Given the description of an element on the screen output the (x, y) to click on. 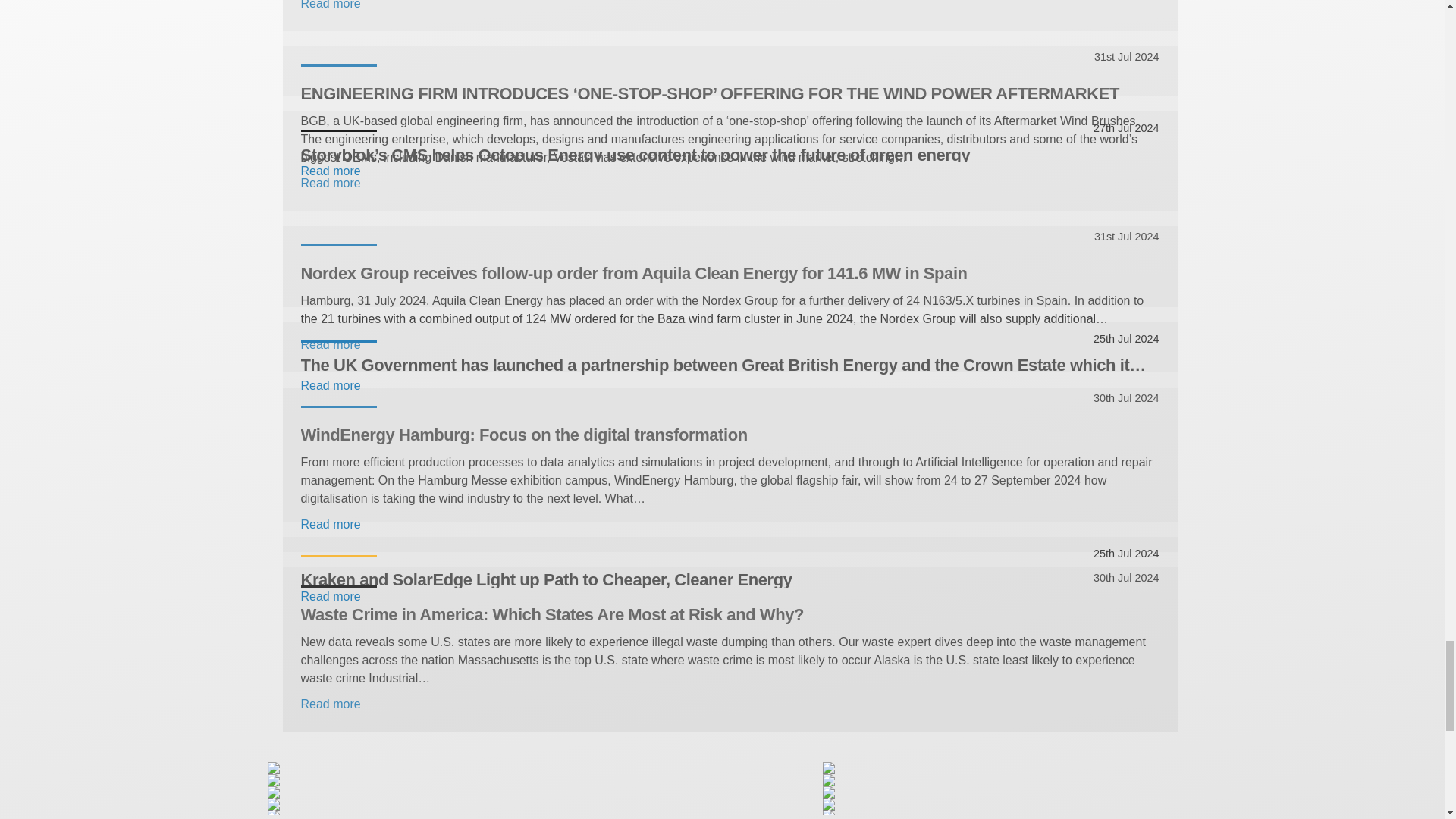
WindEnergy Hamburg: Focus on the digital transformation (728, 434)
